Given the description of an element on the screen output the (x, y) to click on. 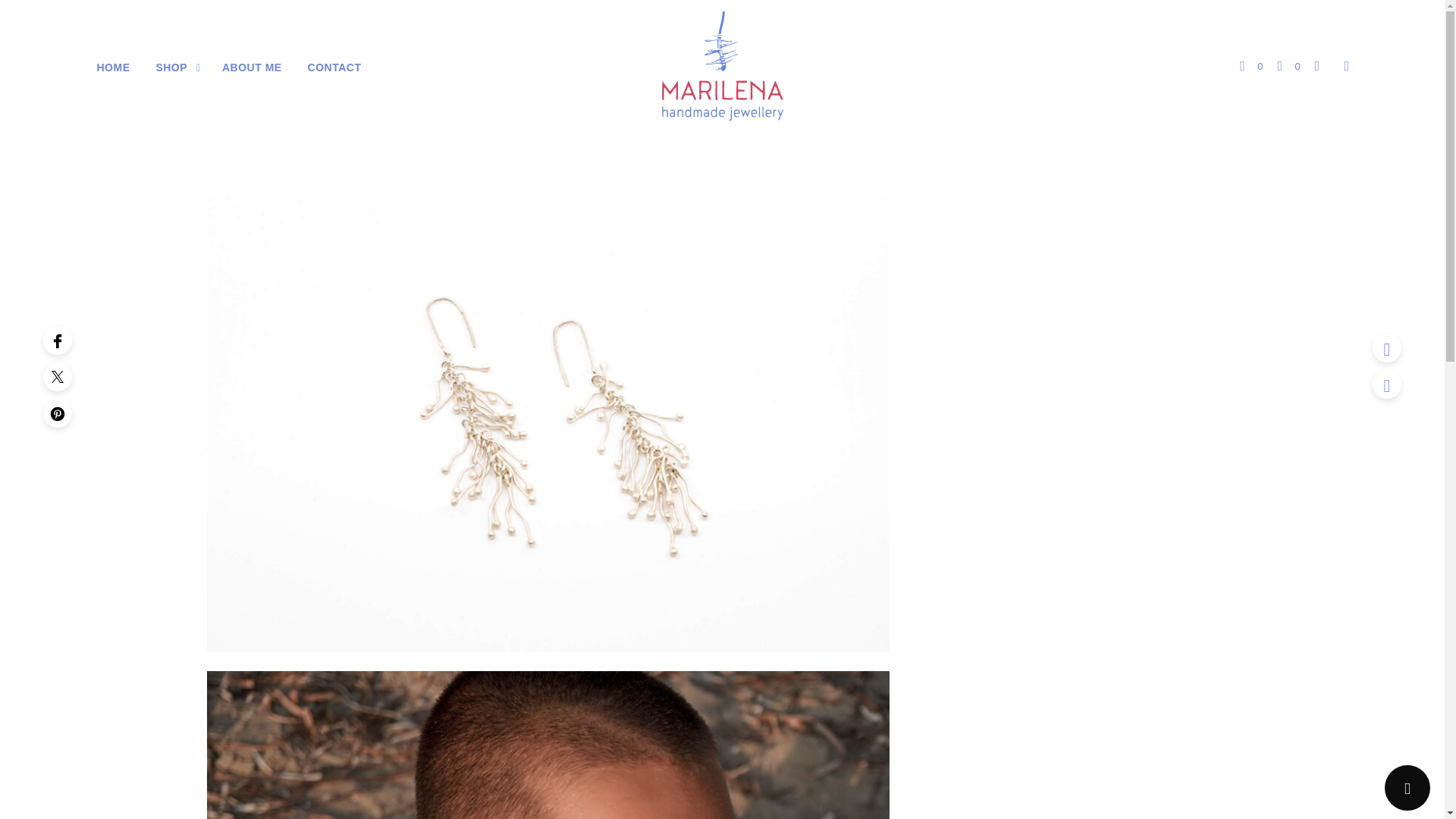
SHOP (171, 66)
CONTACT (334, 66)
0 (1251, 66)
0 (1288, 66)
ABOUT ME (252, 66)
HOME (112, 66)
